Given the description of an element on the screen output the (x, y) to click on. 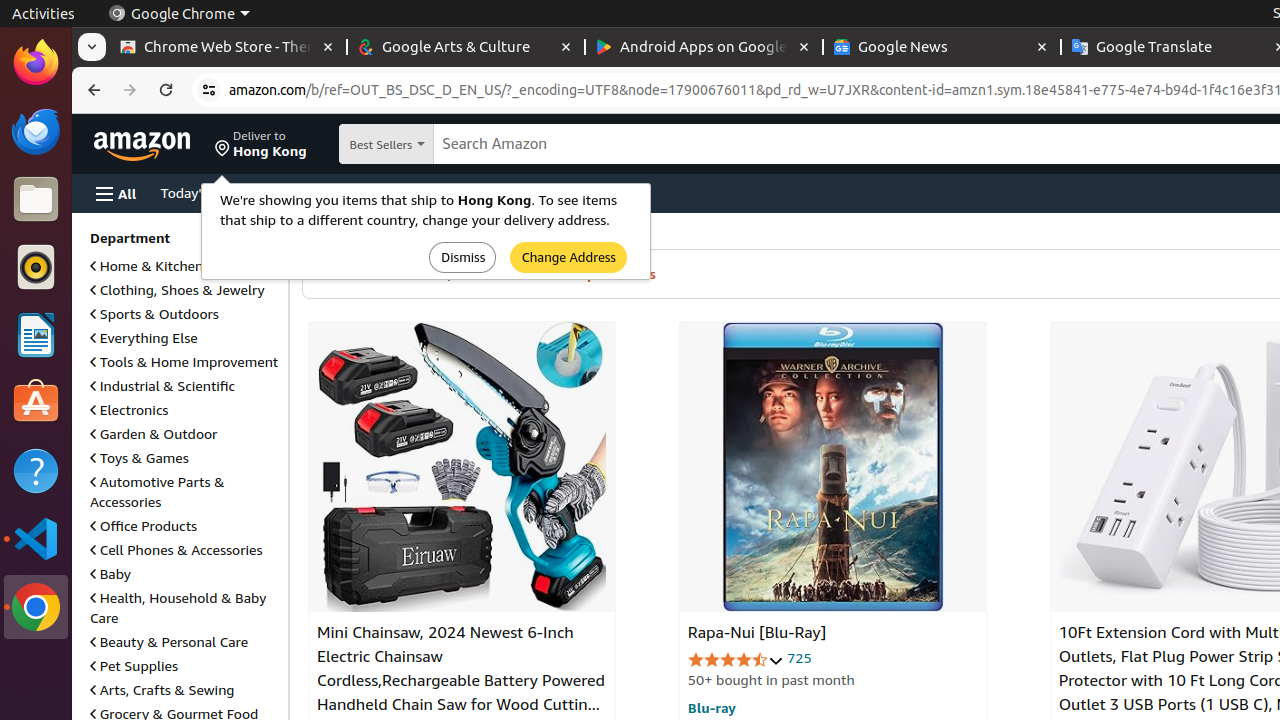
Open Menu Element type: push-button (116, 193)
Files Element type: push-button (36, 199)
Today's Deals Element type: link (203, 192)
Rapa-Nui [Blu-Ray] Element type: link (832, 467)
View site information Element type: push-button (209, 90)
